Given the description of an element on the screen output the (x, y) to click on. 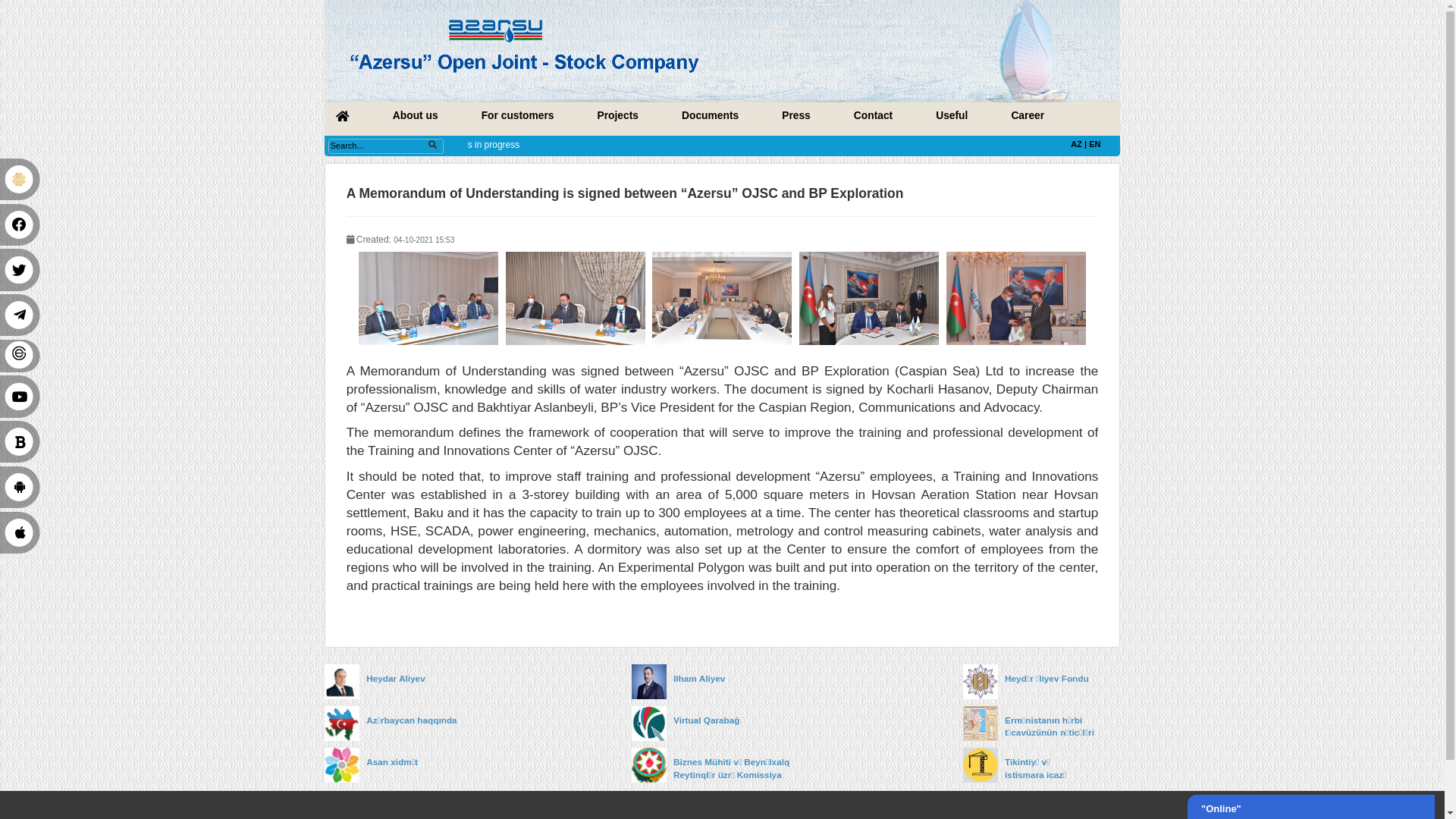
Useful Element type: text (1034, 125)
Heydar Aliyev Element type: text (488, 732)
Career Element type: text (1116, 125)
Contact Element type: text (949, 125)
Documents Element type: text (771, 125)
Projects Element type: text (671, 125)
For customers Element type: text (562, 125)
Ilham Aliyev Element type: text (822, 732)
EN Element type: text (1189, 156)
Press Element type: text (865, 125)
About us Element type: text (451, 125)
AZ | Element type: text (1173, 156)
